Given the description of an element on the screen output the (x, y) to click on. 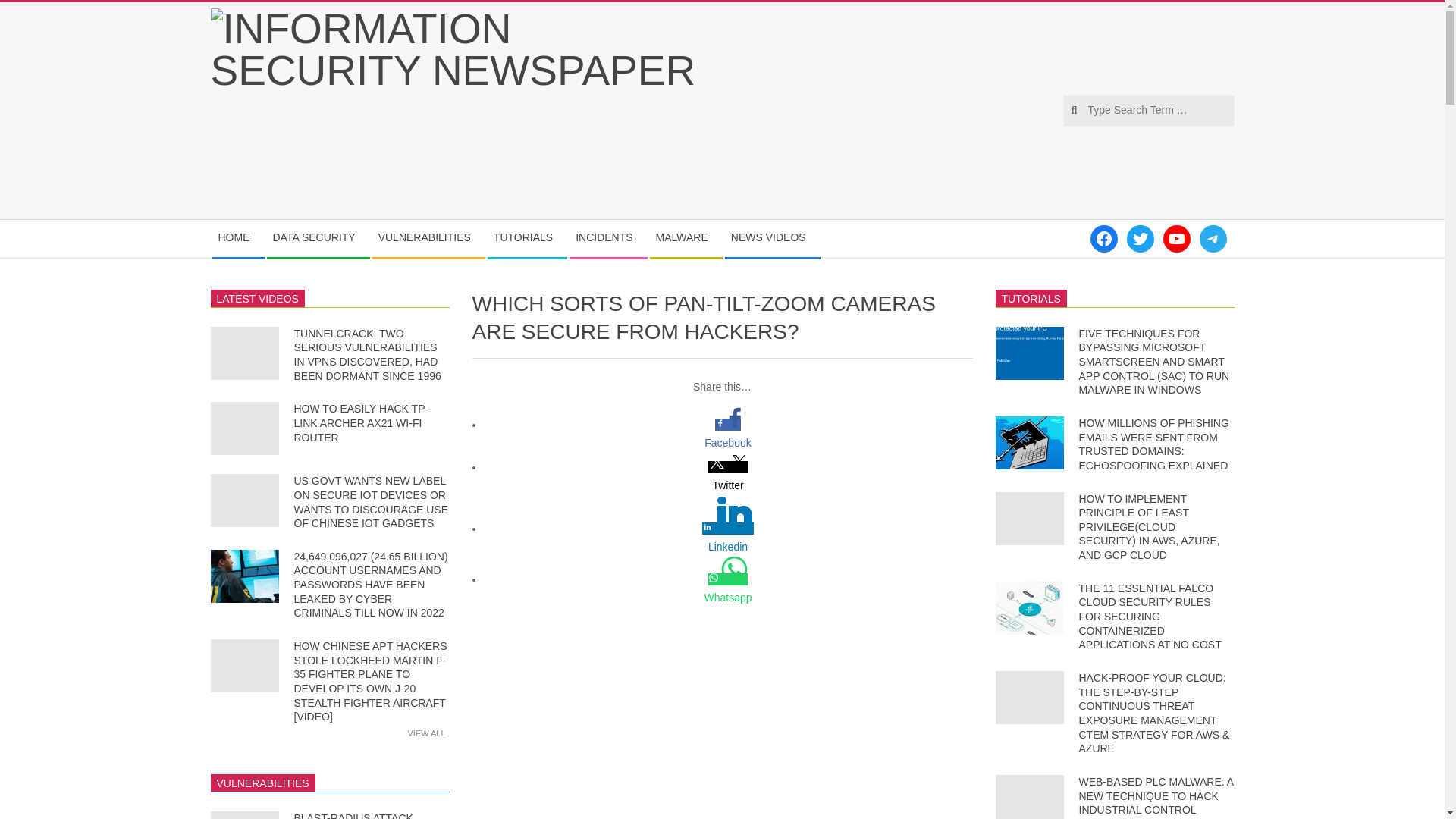
Linkedin (727, 546)
Facebook (727, 443)
Whatsapp (727, 597)
HOME (237, 238)
DATA SECURITY (317, 238)
VULNERABILITIES (428, 238)
Twitter (727, 484)
TUTORIALS (526, 238)
